Given the description of an element on the screen output the (x, y) to click on. 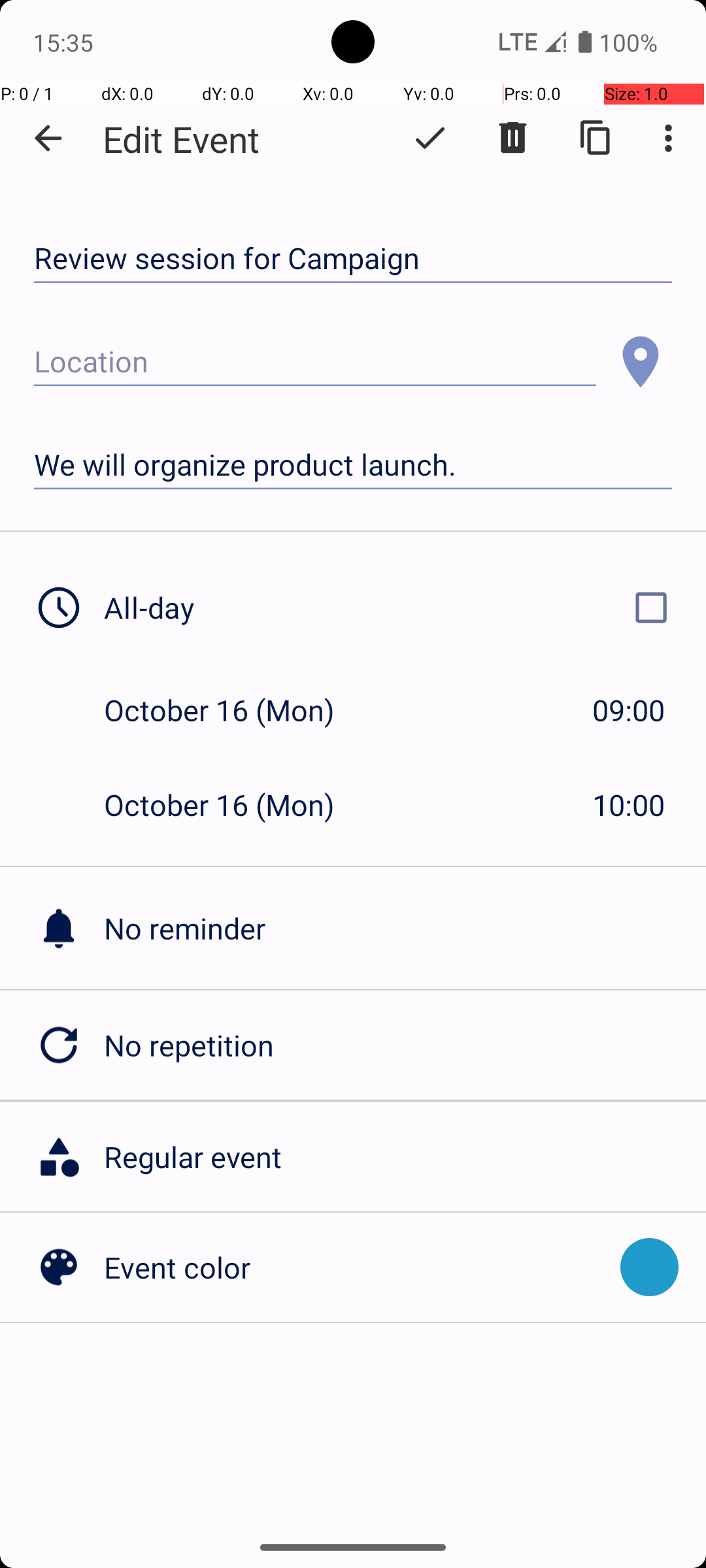
We will organize product launch. Element type: android.widget.EditText (352, 465)
